Given the description of an element on the screen output the (x, y) to click on. 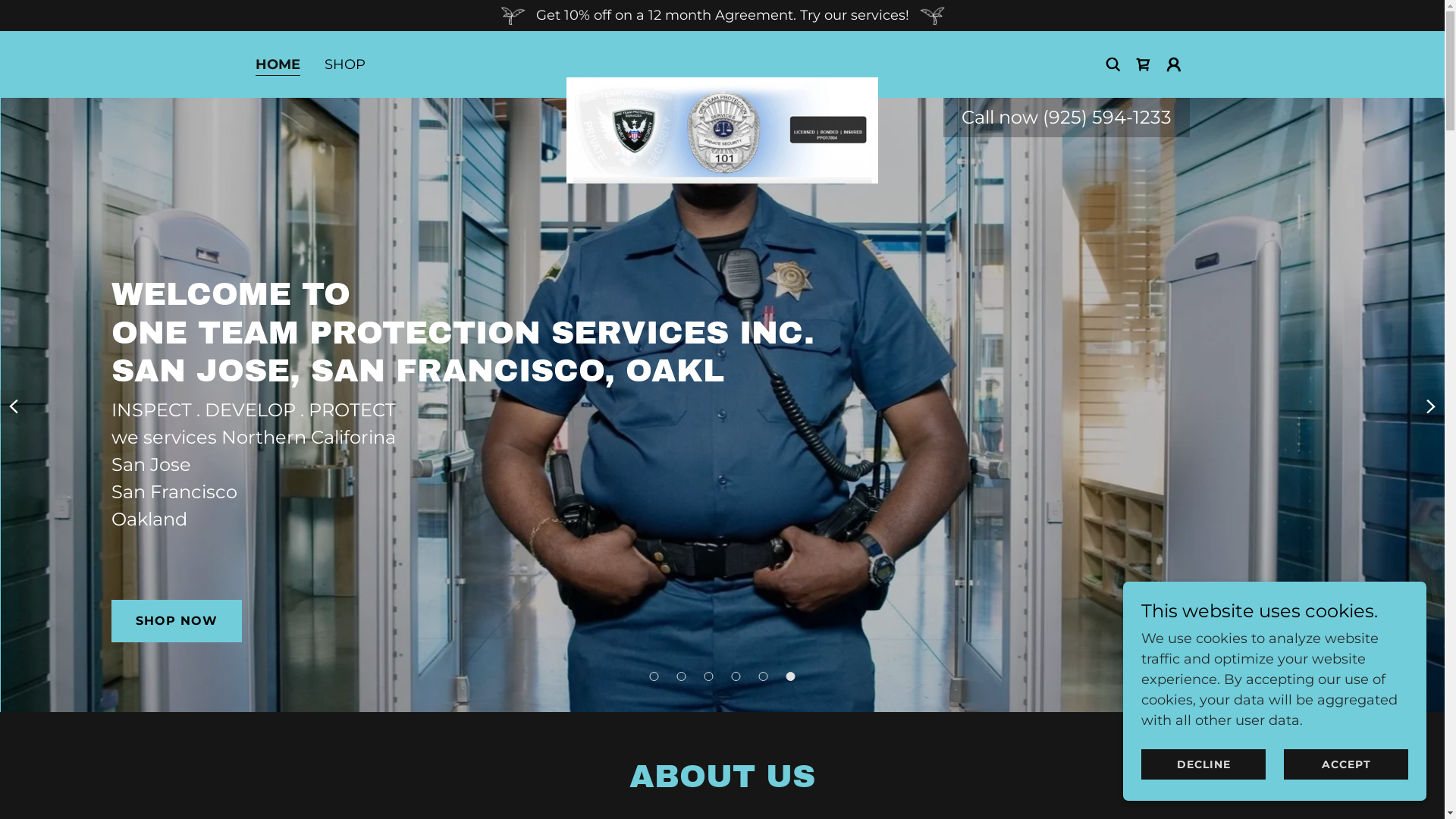
SHOP Element type: text (345, 64)
DECLINE Element type: text (1203, 764)
One Team Protection Services, Inc Element type: hover (722, 61)
SHOP NOW Element type: text (176, 620)
HOME Element type: text (276, 65)
(925) 594-1233 Element type: text (1105, 117)
ACCEPT Element type: text (1345, 764)
